Given the description of an element on the screen output the (x, y) to click on. 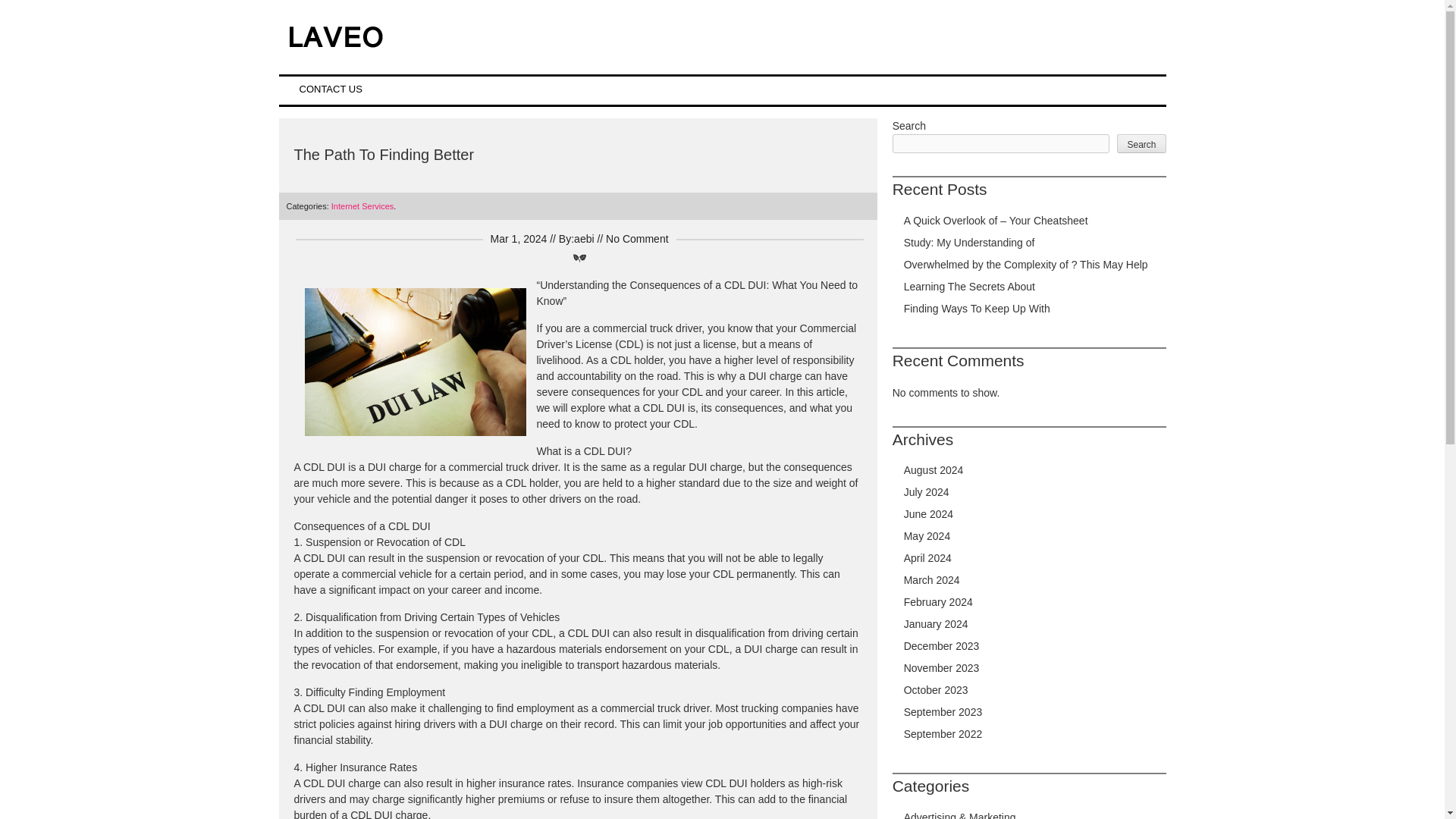
January 2024 (936, 623)
CONTACT US (330, 89)
August 2024 (933, 469)
April 2024 (928, 558)
September 2022 (943, 734)
Search (1141, 143)
Internet Services (362, 205)
March 2024 (931, 580)
Study: My Understanding of (969, 242)
October 2023 (936, 689)
